Given the description of an element on the screen output the (x, y) to click on. 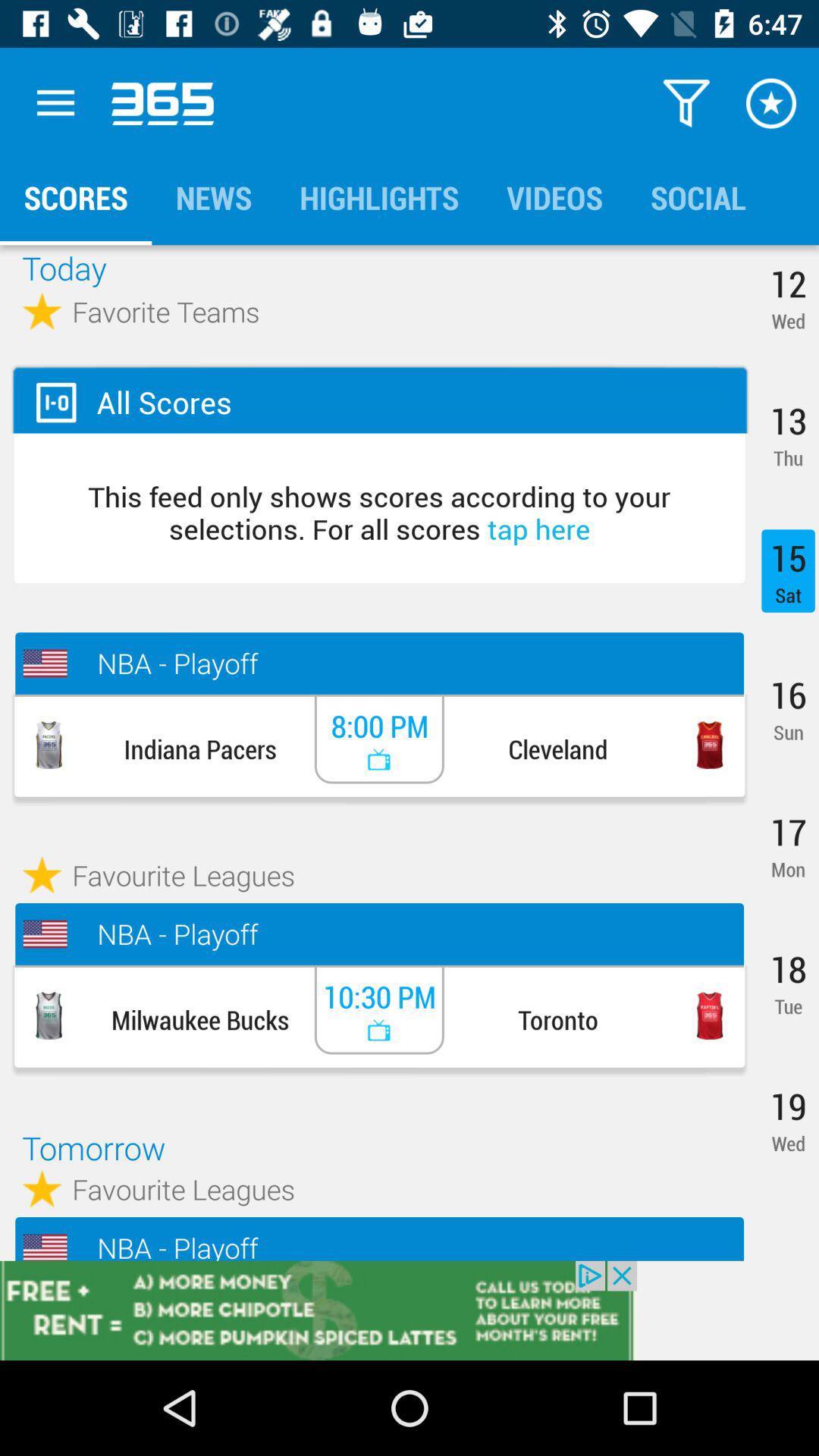
go to advertisement 's website (409, 1310)
